Given the description of an element on the screen output the (x, y) to click on. 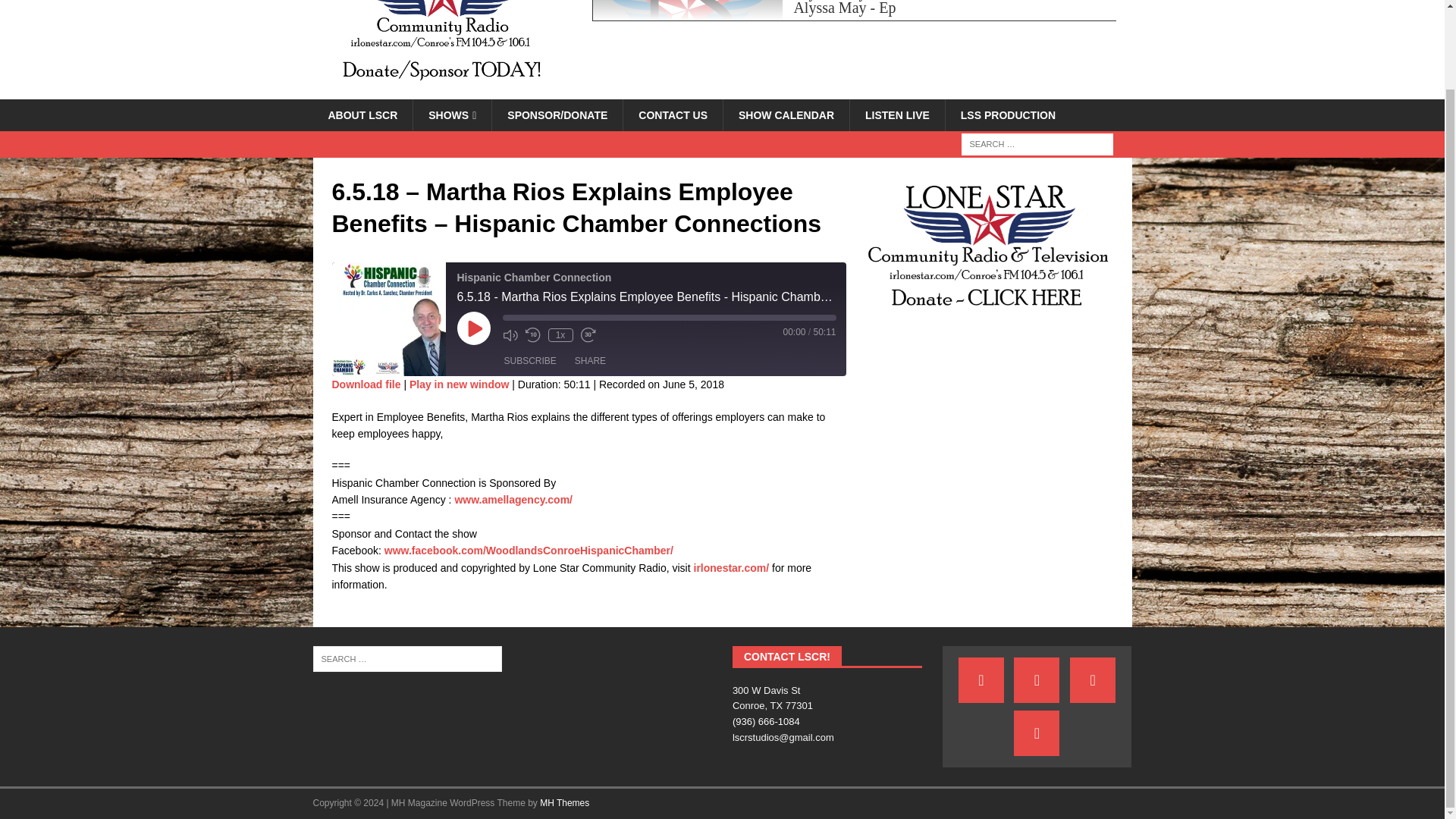
SUBSCRIBE (529, 360)
Seek (668, 317)
Share (589, 360)
ABOUT LSCR (362, 115)
Download file (366, 384)
LISTEN LIVE (896, 115)
Play (473, 328)
SHOWS (452, 115)
CONTACT US (672, 115)
Fast Forward 30 seconds (587, 335)
